Given the description of an element on the screen output the (x, y) to click on. 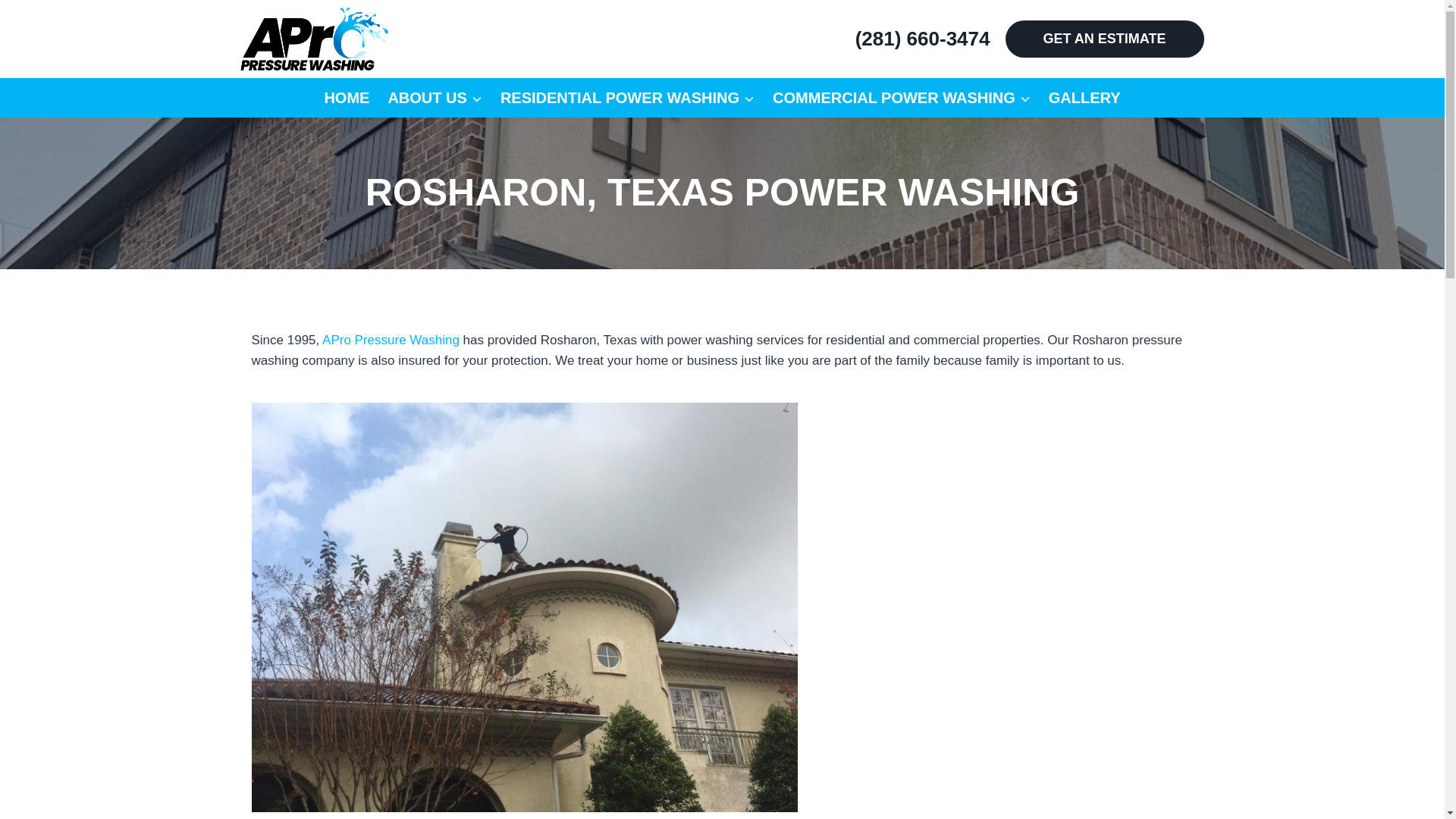
ABOUT US (434, 97)
RESIDENTIAL POWER WASHING (627, 97)
HOME (346, 97)
APro Pressure Washing (390, 339)
GALLERY (1084, 97)
GET AN ESTIMATE (1105, 38)
COMMERCIAL POWER WASHING (900, 97)
